Given the description of an element on the screen output the (x, y) to click on. 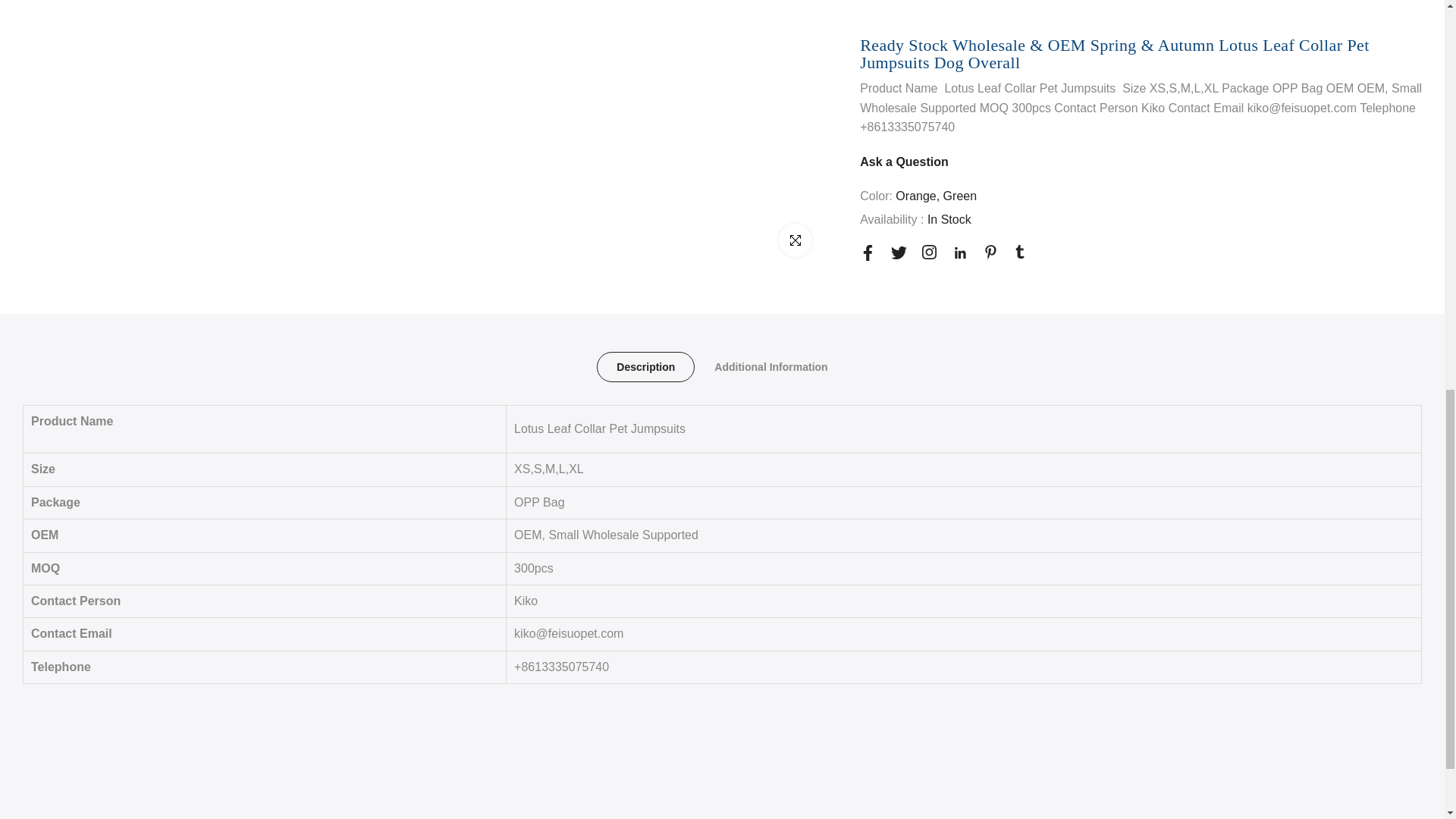
Description (645, 367)
Additional Information (770, 367)
